Given the description of an element on the screen output the (x, y) to click on. 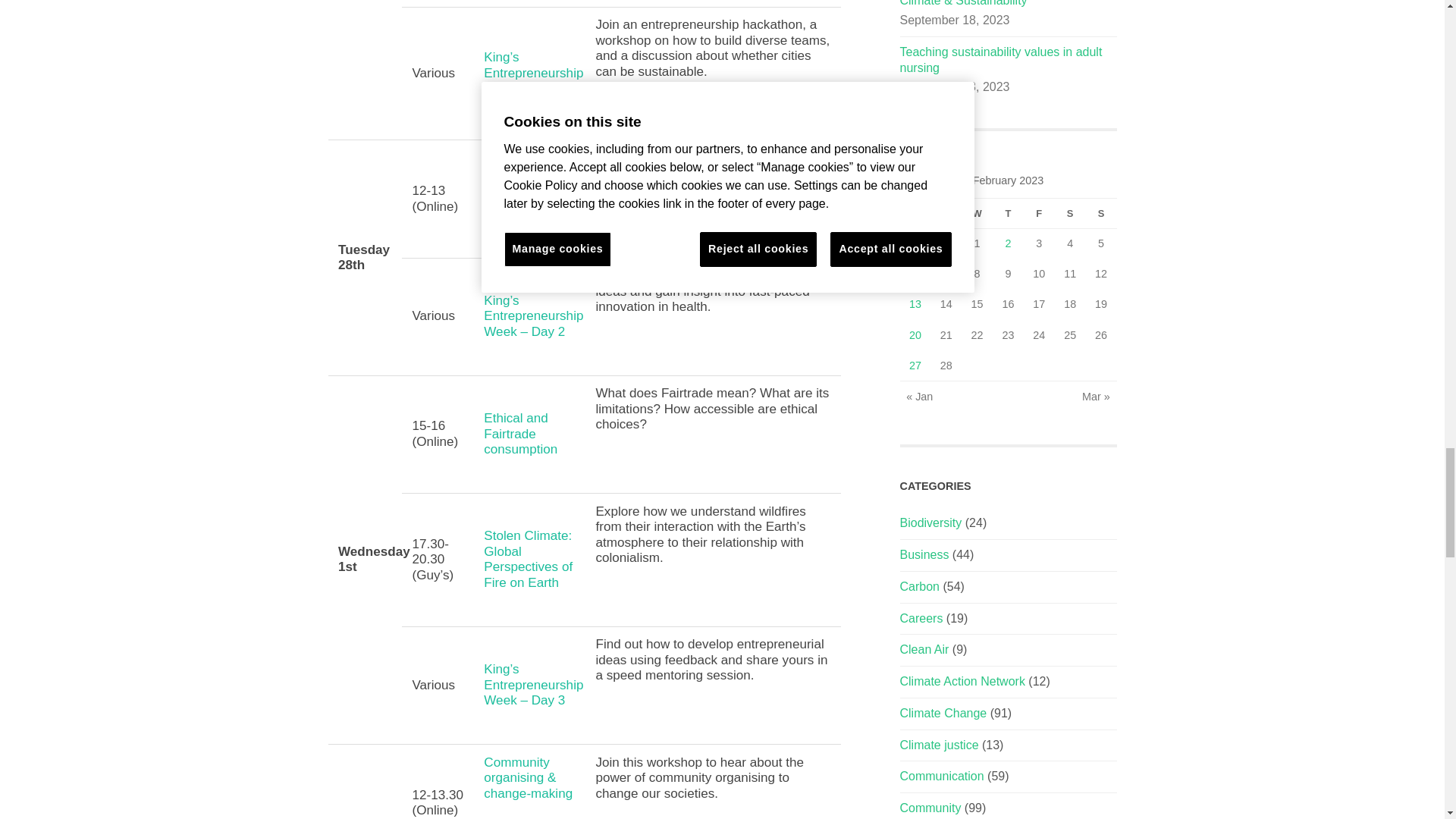
Friday (1038, 213)
Monday (914, 213)
Tuesday (945, 213)
Thursday (1007, 213)
Saturday (1070, 213)
Wednesday (976, 213)
Sunday (1101, 213)
